Given the description of an element on the screen output the (x, y) to click on. 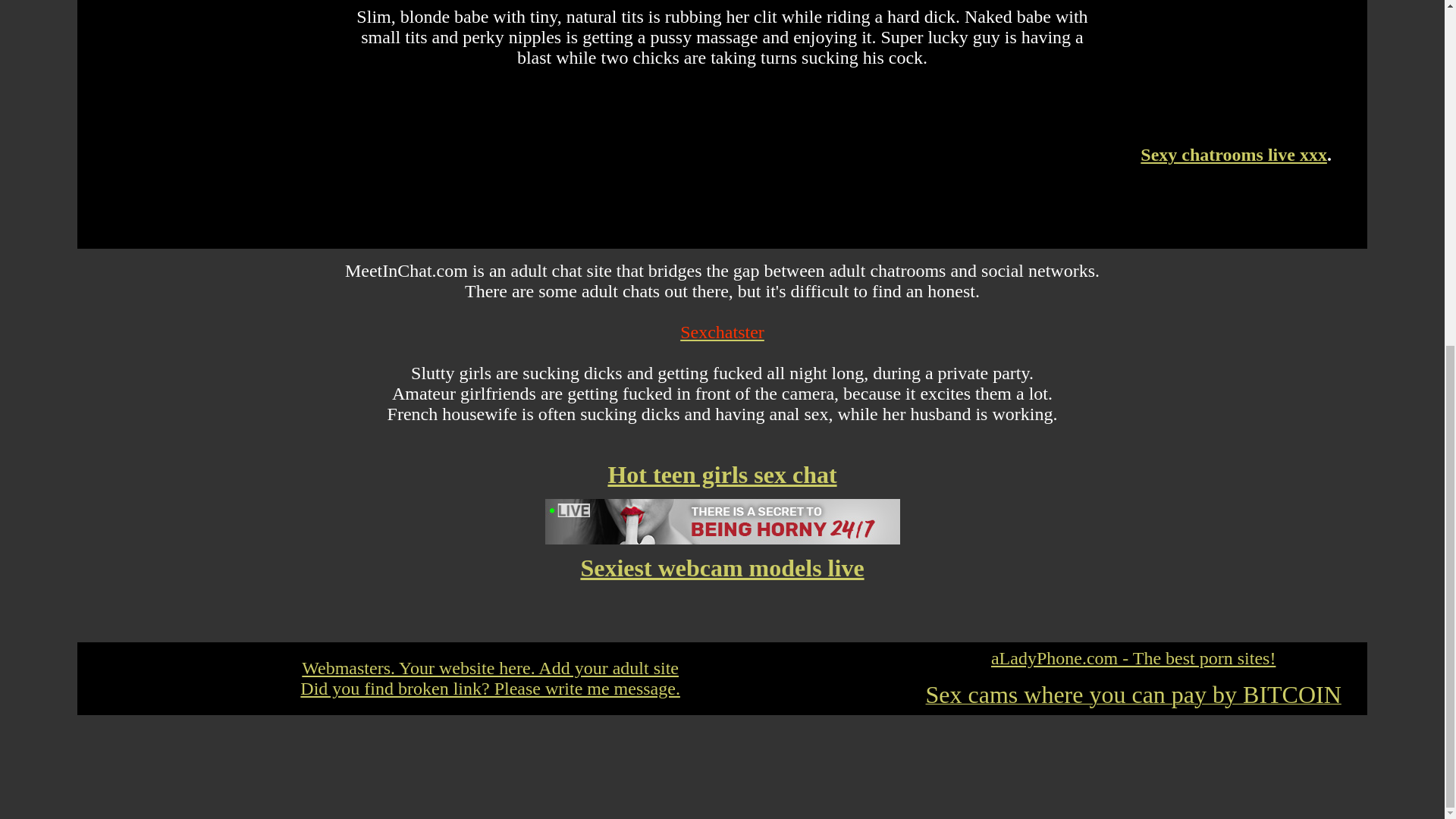
Sexchatster (721, 332)
Hot teen girls sex chat (721, 474)
Sex cams where you can pay by BITCOIN (1133, 698)
Sexy chatrooms live xxx (1233, 154)
Sexiest webcam models live (721, 567)
aLadyPhone.com - The best porn sites! (1133, 658)
